Given the description of an element on the screen output the (x, y) to click on. 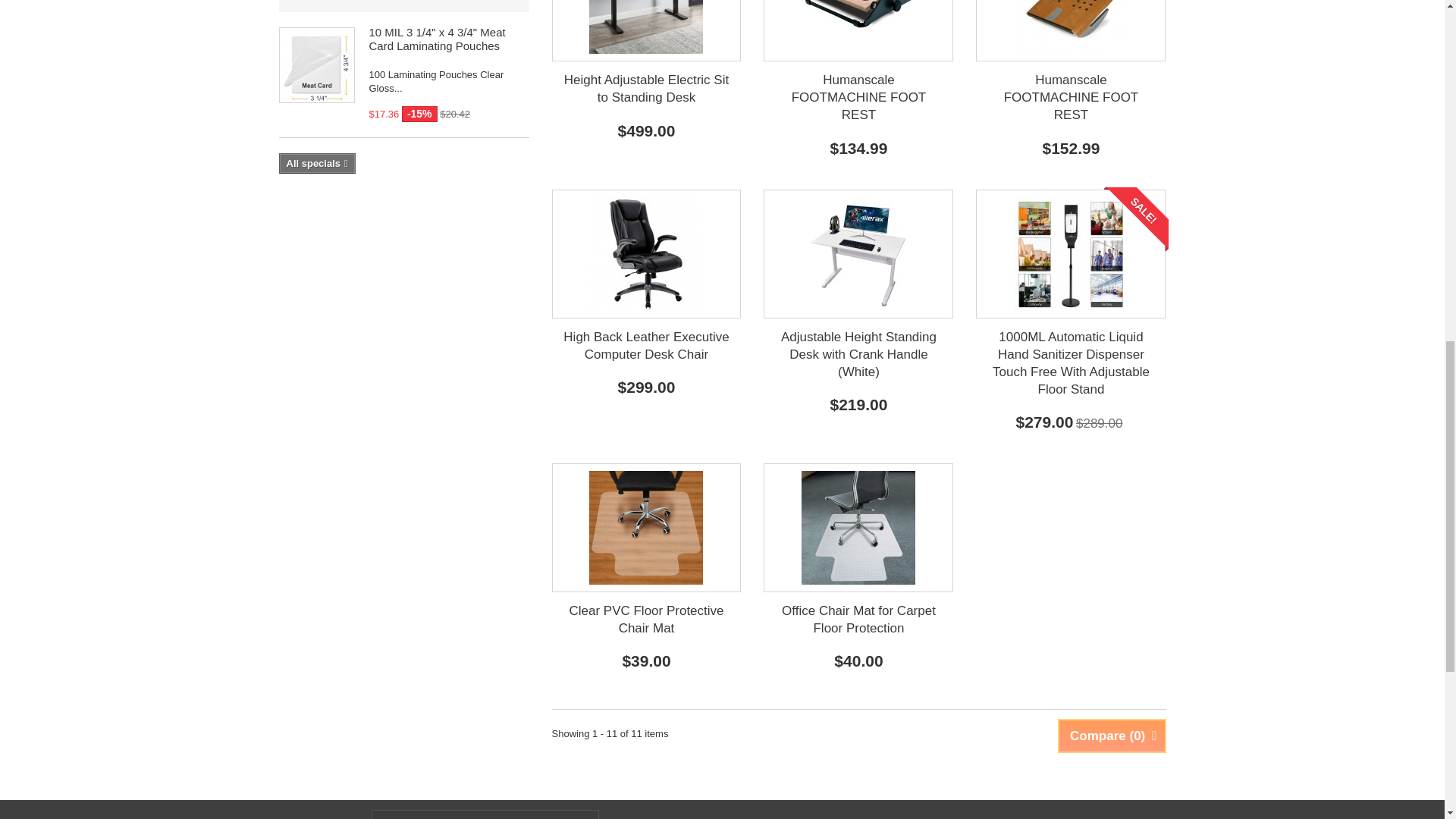
Enter your e-mail (484, 814)
